Given the description of an element on the screen output the (x, y) to click on. 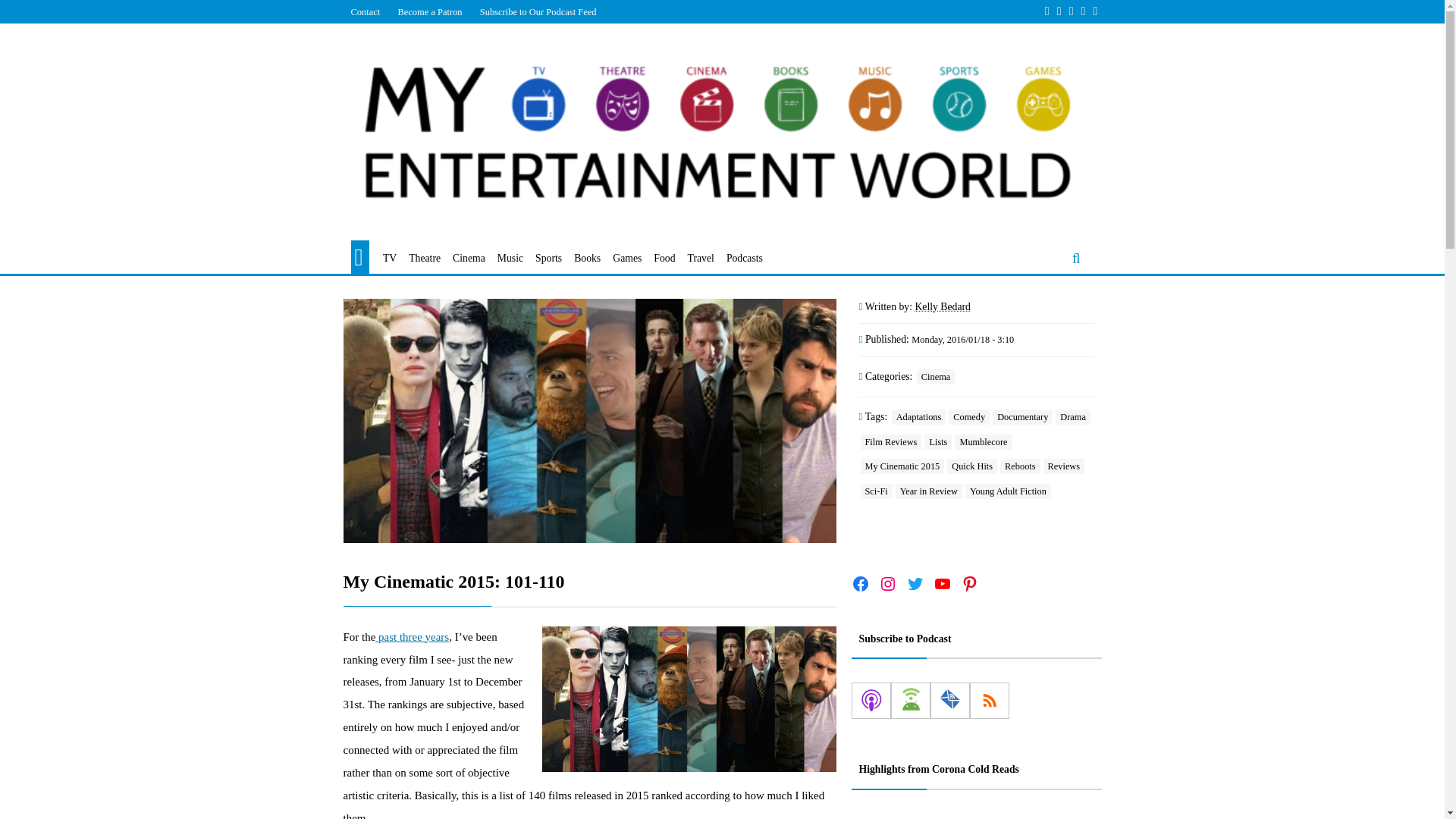
Theatre (425, 258)
Subscribe on Apple Podcasts (869, 700)
Podcasts (744, 258)
Subscribe via RSS (989, 700)
Subscribe on Android (909, 700)
past three years (411, 636)
Become a Patron (429, 10)
Music (509, 258)
Subscribe by Email (949, 700)
Books (586, 258)
Contact (364, 10)
Cinema (468, 258)
Games (627, 258)
Travel (700, 258)
Sports (548, 258)
